Given the description of an element on the screen output the (x, y) to click on. 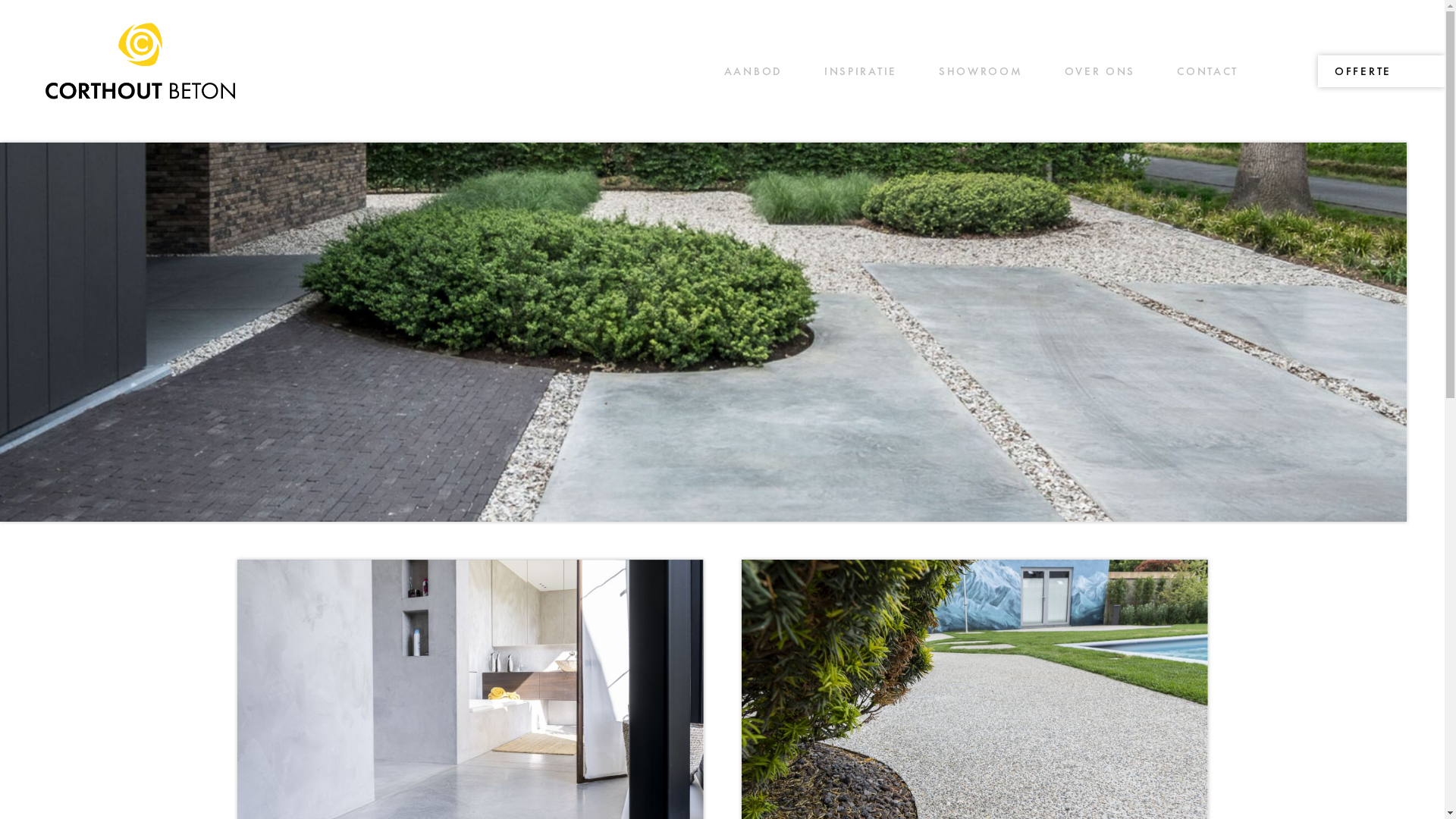
OVER ONS Element type: text (1099, 71)
AANBOD Element type: text (753, 71)
CONTACT Element type: text (1207, 71)
OFFERTE Element type: text (1362, 71)
INSPIRATIE Element type: text (860, 71)
SHOWROOM Element type: text (980, 71)
